Given the description of an element on the screen output the (x, y) to click on. 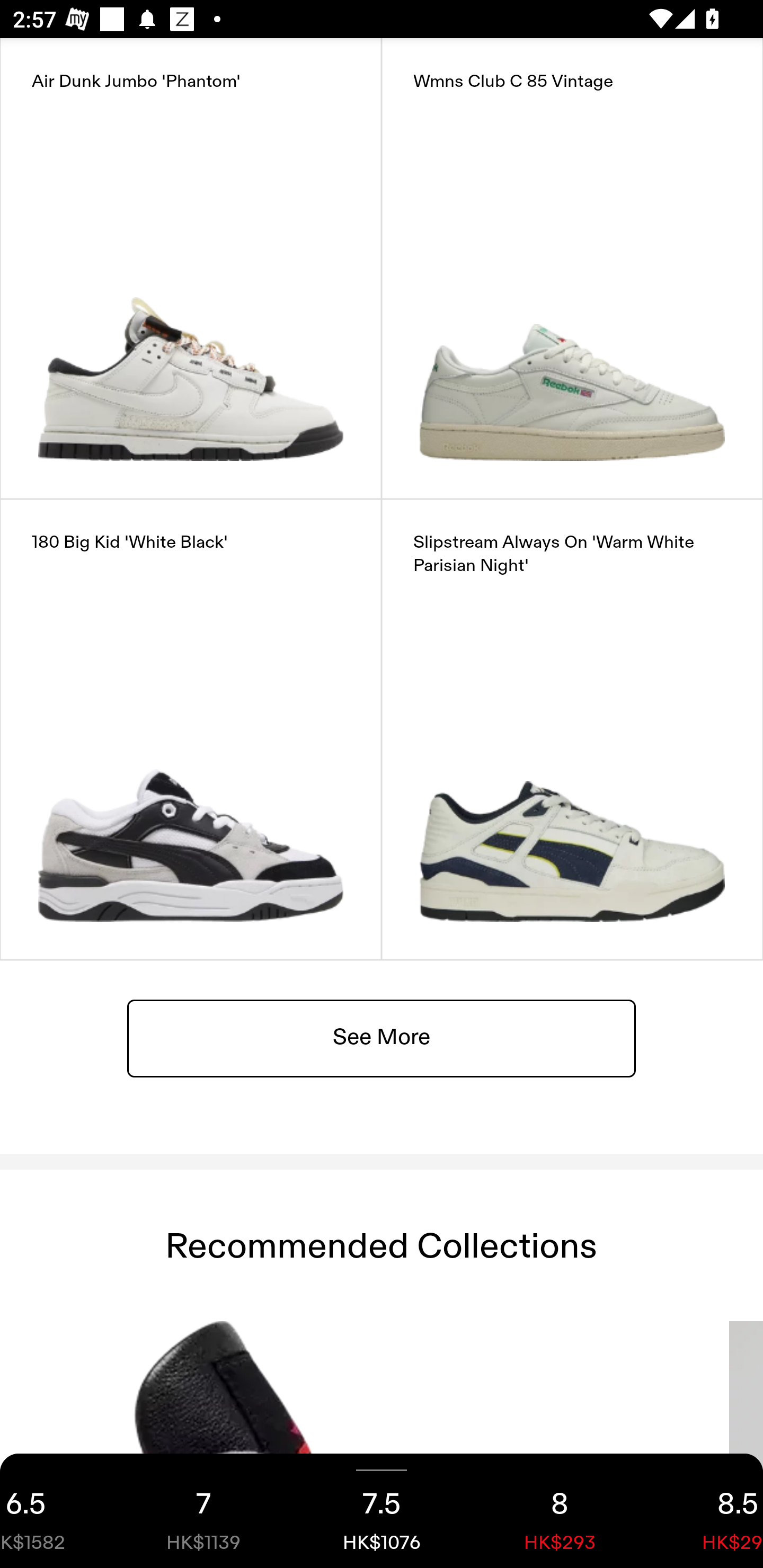
Air Dunk Jumbo 'Phantom' (190, 267)
Wmns Club C 85 Vintage (572, 267)
180 Big Kid 'White Black' (190, 728)
Slipstream Always On 'Warm White Parisian Night' (572, 728)
See More (381, 1037)
6.5 HK$1582 (57, 1510)
7 HK$1139 (203, 1510)
7.5 HK$1076 (381, 1510)
8 HK$293 (559, 1510)
8.5 HK$293 (705, 1510)
